Given the description of an element on the screen output the (x, y) to click on. 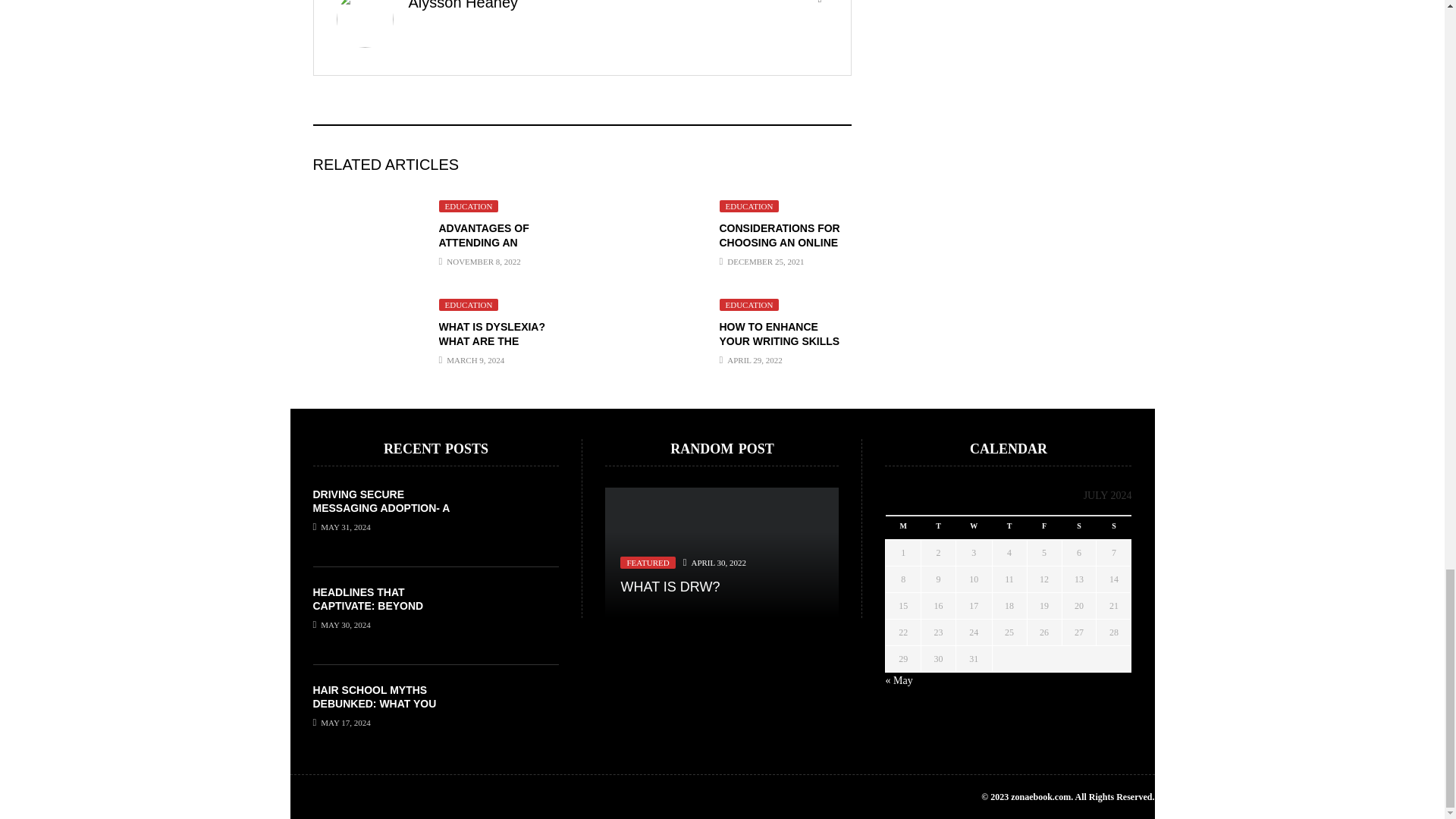
Alysson Heaney (462, 5)
